Given the description of an element on the screen output the (x, y) to click on. 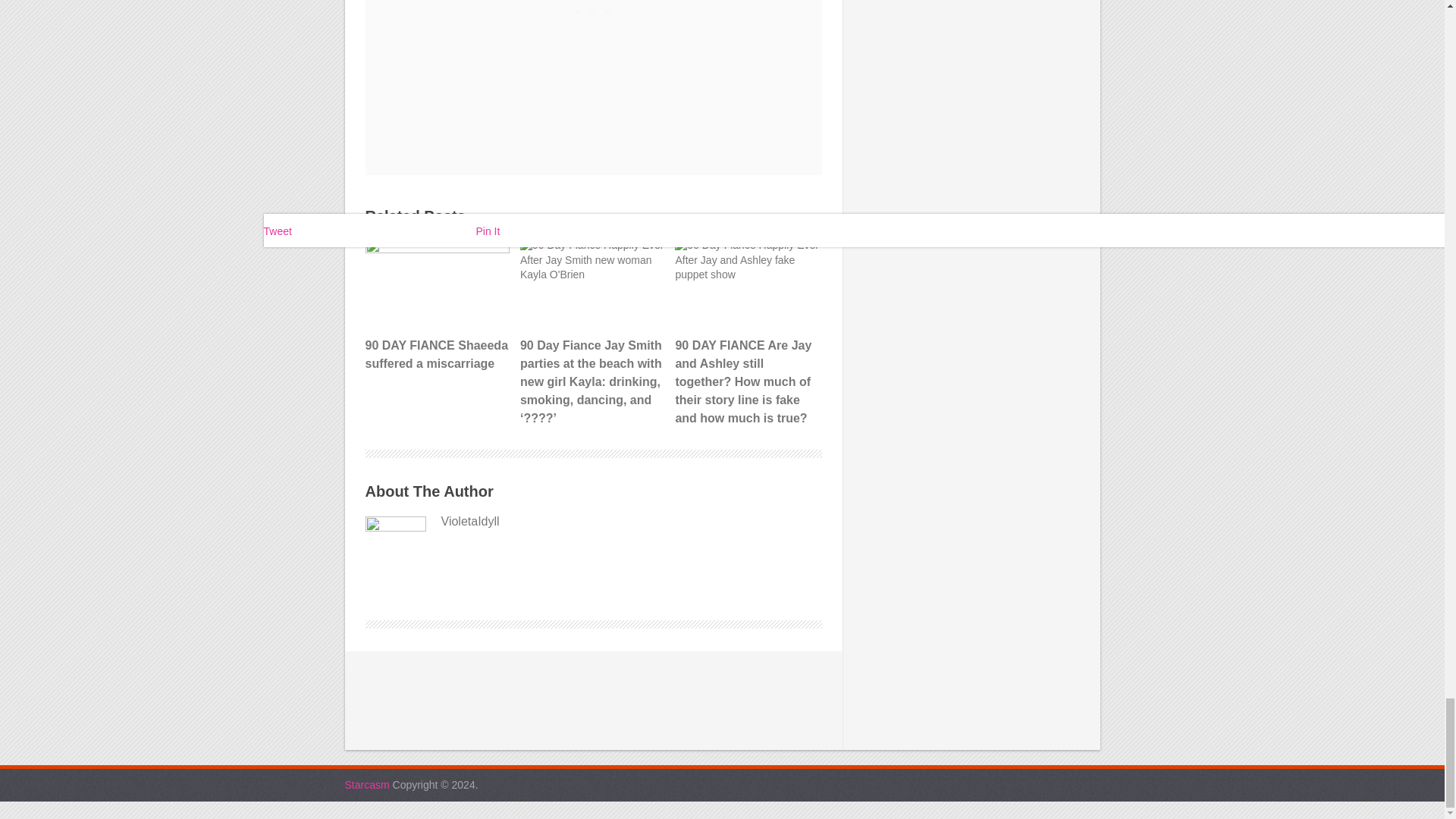
90 DAY FIANCE Shaeeda suffered a miscarriage (437, 305)
